Given the description of an element on the screen output the (x, y) to click on. 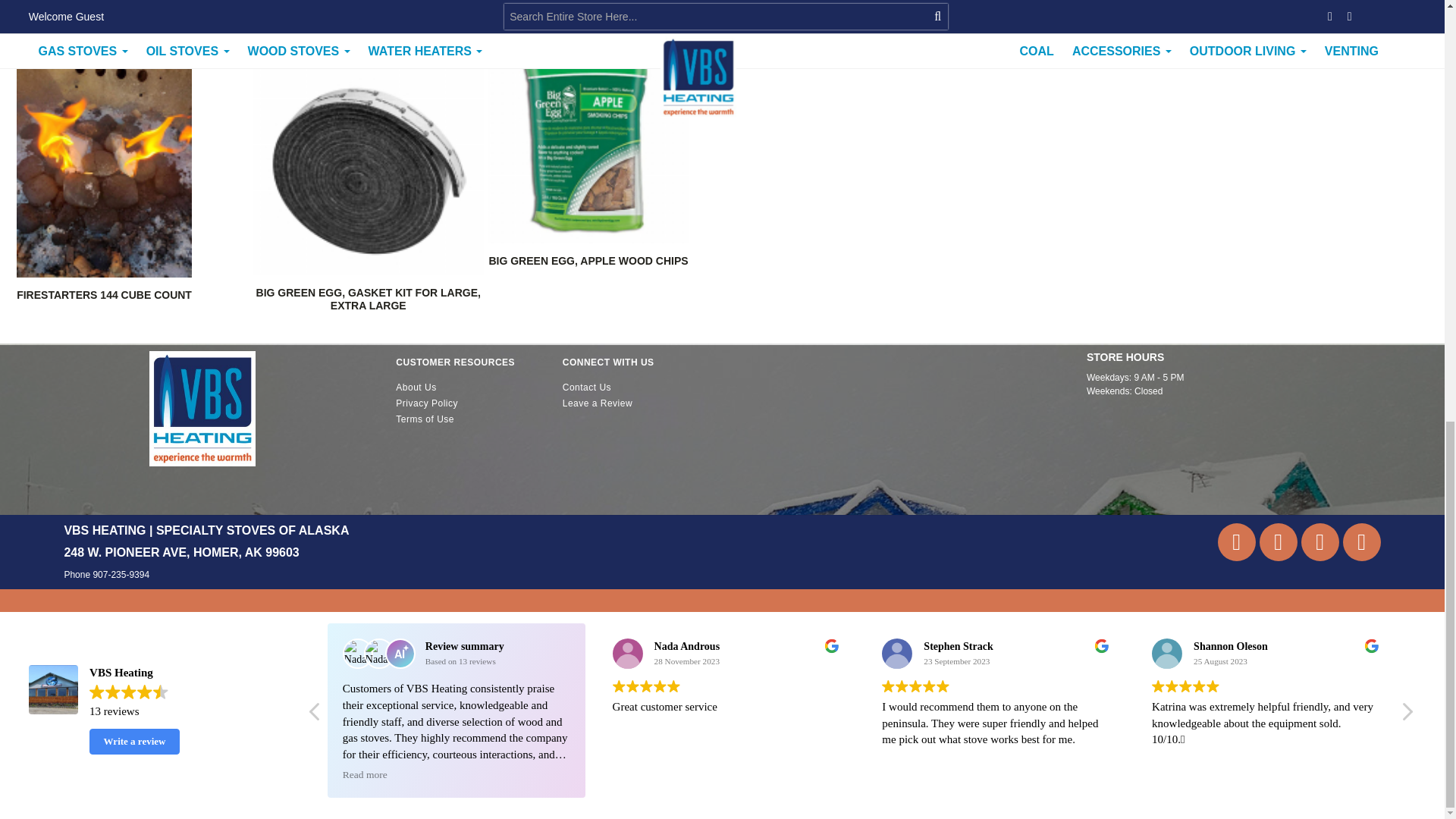
Big Green Egg, Apple Wood Chips  (587, 260)
Instagram (1320, 542)
Big Green Egg, Gasket Kit for Large, Extra Large (367, 159)
Big Green Egg, Gasket Kit for Large, Extra Large  (368, 299)
Big Green Egg, Apple Wood Chips (587, 143)
Firestarters 144 Cube Count  (104, 295)
Facebook (1361, 542)
